Given the description of an element on the screen output the (x, y) to click on. 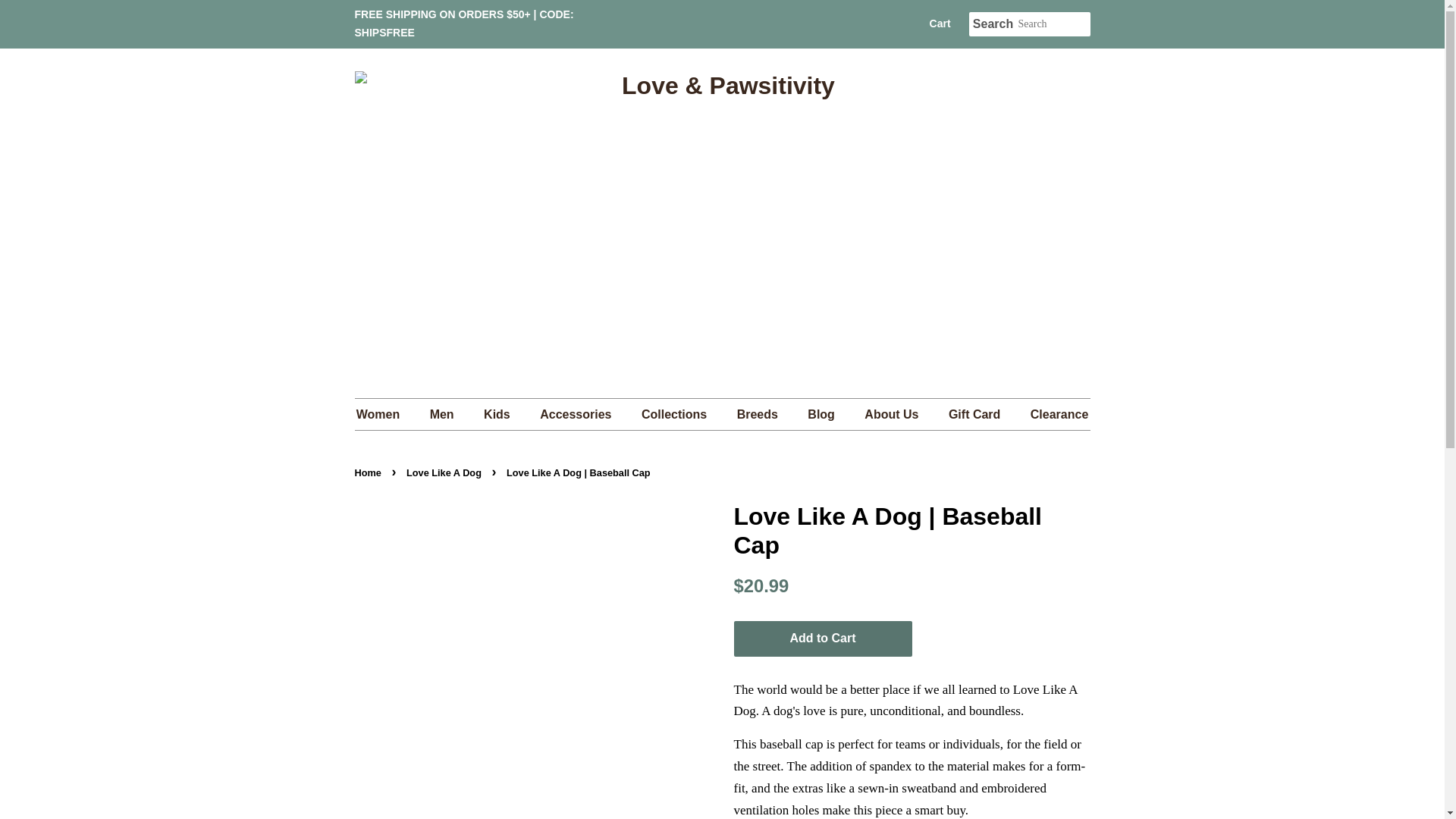
Search (993, 24)
Cart (940, 24)
Back to the frontpage (370, 472)
